Given the description of an element on the screen output the (x, y) to click on. 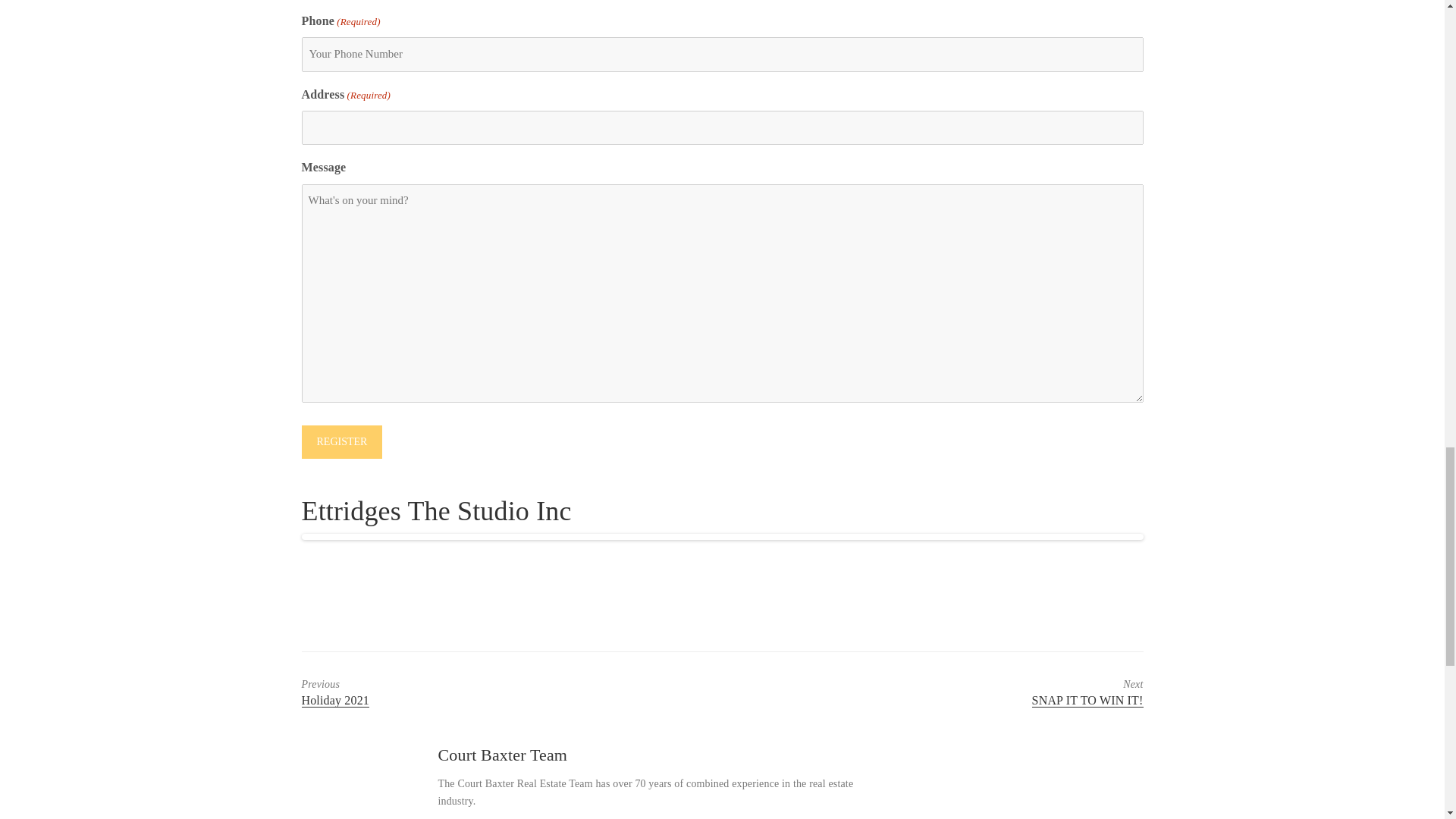
Register (341, 441)
Register (470, 692)
